Given the description of an element on the screen output the (x, y) to click on. 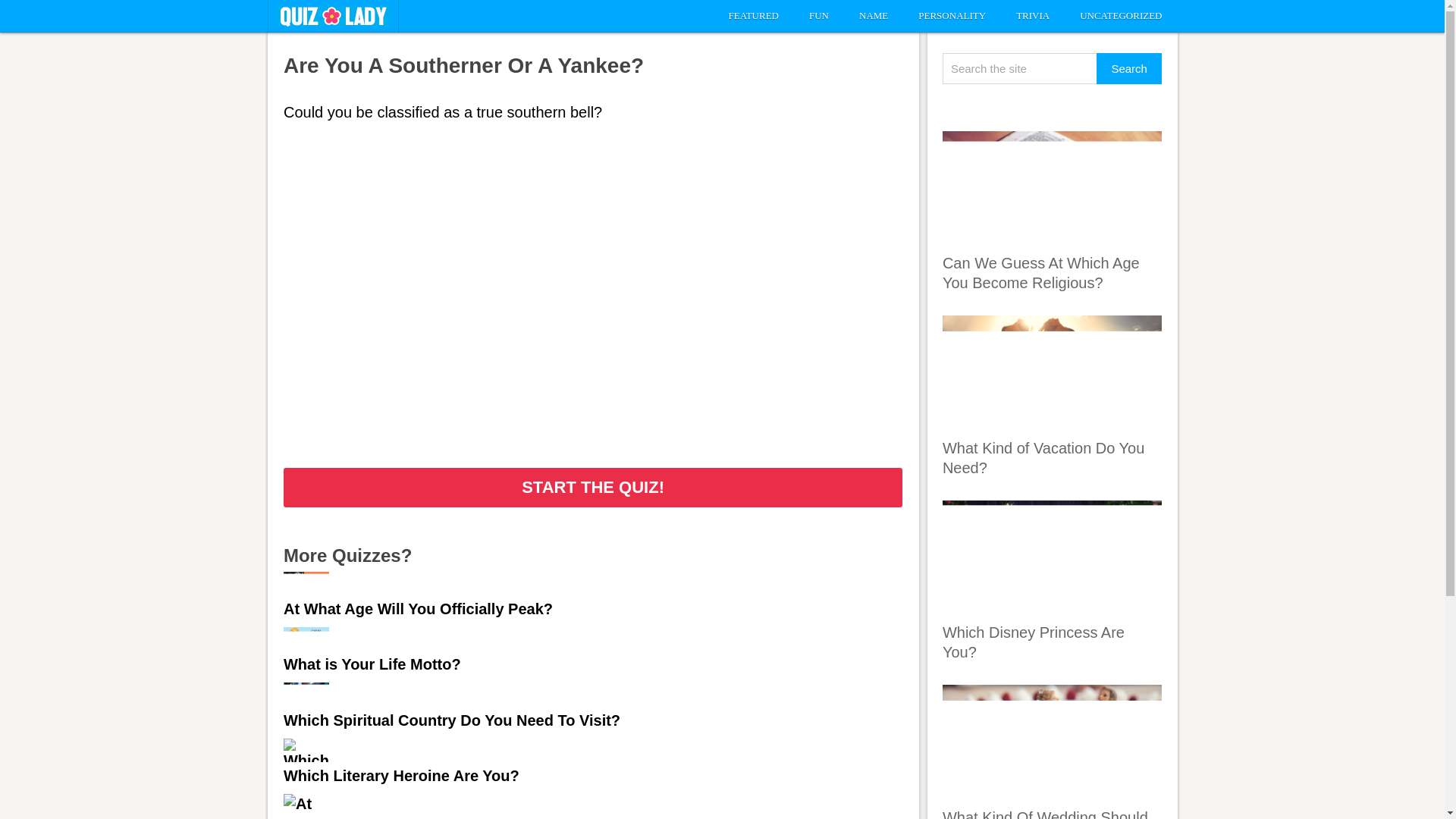
NAME (873, 15)
Can We Guess At Which Age You Become Religious? (1051, 188)
What Kind Of Wedding Should You Have? (1045, 813)
Search (1128, 68)
What Kind of Vacation Do You Need? (1043, 457)
What is Your Life Motto? (372, 664)
Search (1128, 68)
Which Disney Princess Are You? (1033, 642)
FEATURED (753, 15)
FUN (818, 15)
